Given the description of an element on the screen output the (x, y) to click on. 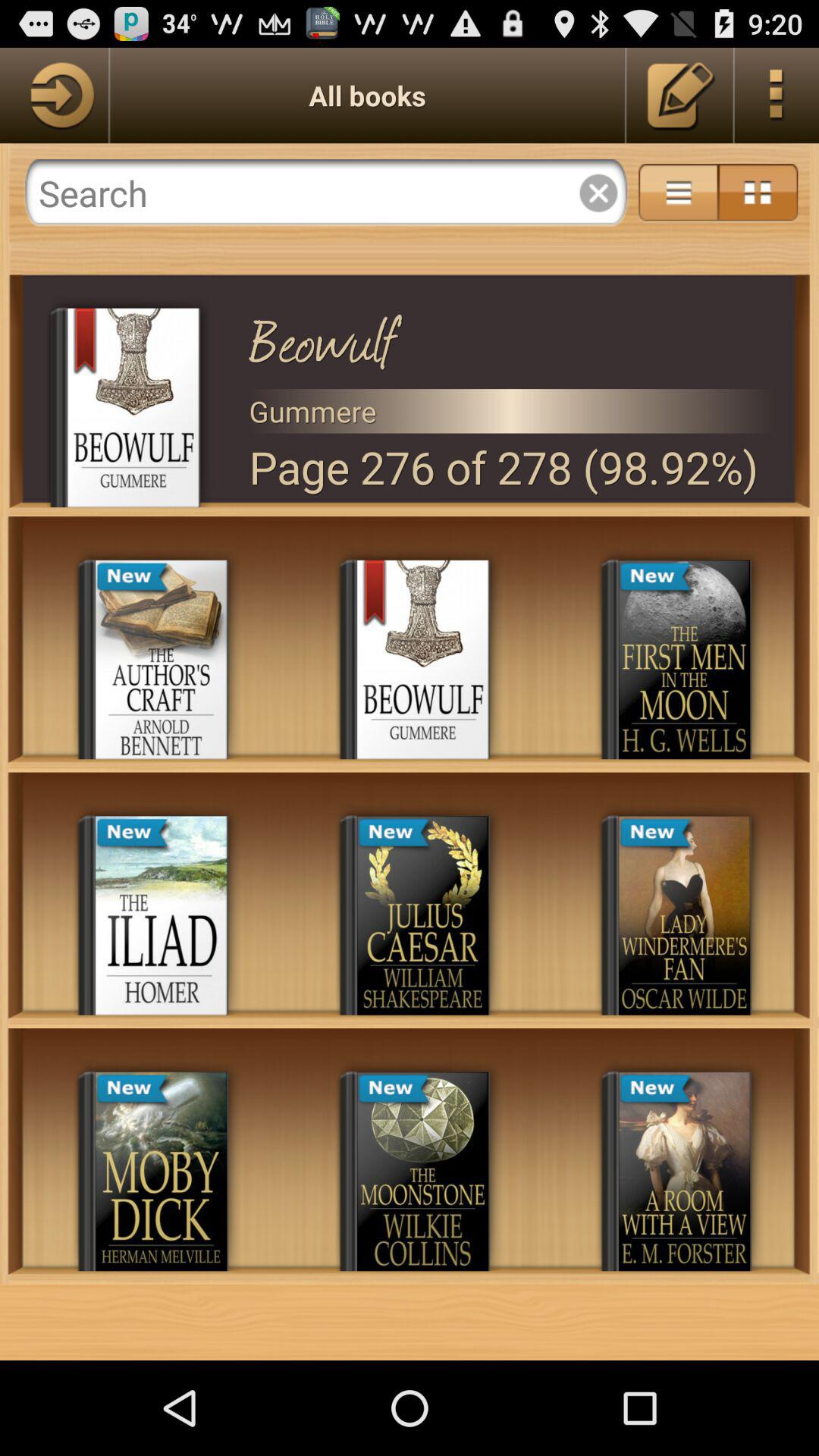
view all books (54, 95)
